Given the description of an element on the screen output the (x, y) to click on. 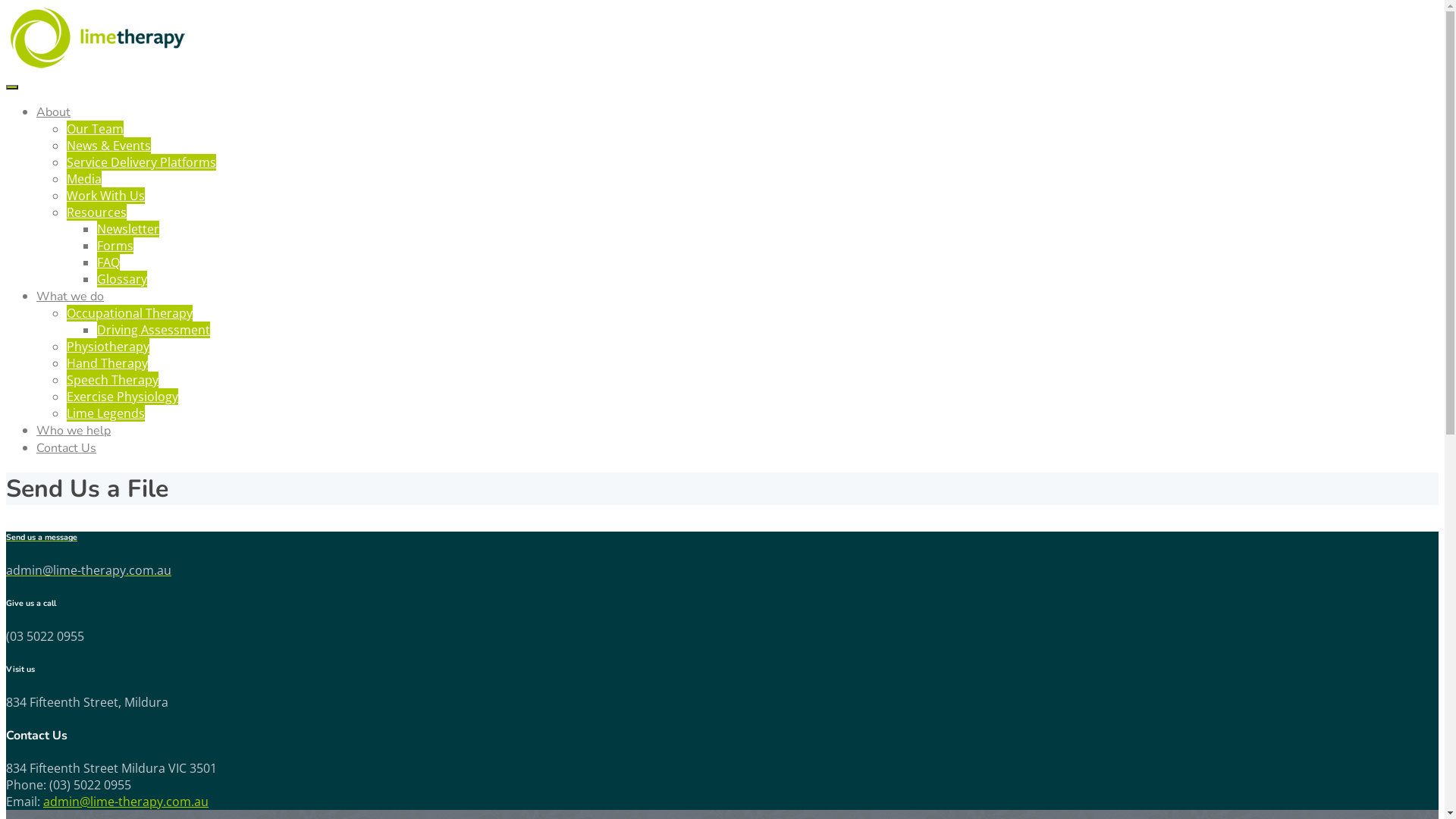
Resources Element type: text (96, 211)
Who we help Element type: text (73, 430)
Physiotherapy Element type: text (107, 346)
admin@lime-therapy.com.au Element type: text (125, 801)
Newsletter Element type: text (128, 228)
About Element type: text (53, 111)
Lime Legends Element type: text (105, 412)
Exercise Physiology Element type: text (122, 396)
FAQ Element type: text (108, 262)
Driving Assessment Element type: text (153, 329)
Contact Us Element type: text (66, 447)
Speech Therapy Element type: text (112, 379)
Occupational Therapy Element type: text (129, 312)
News & Events Element type: text (108, 145)
Forms Element type: text (115, 245)
Hand Therapy Element type: text (106, 362)
Send us a message
admin@lime-therapy.com.au Element type: text (722, 554)
Media Element type: text (83, 178)
Work With Us Element type: text (105, 195)
Glossary Element type: text (122, 278)
Our Team Element type: text (94, 128)
Service Delivery Platforms Element type: text (141, 161)
Lime Therapy Mildura Element type: hover (97, 65)
What we do Element type: text (69, 296)
